Given the description of an element on the screen output the (x, y) to click on. 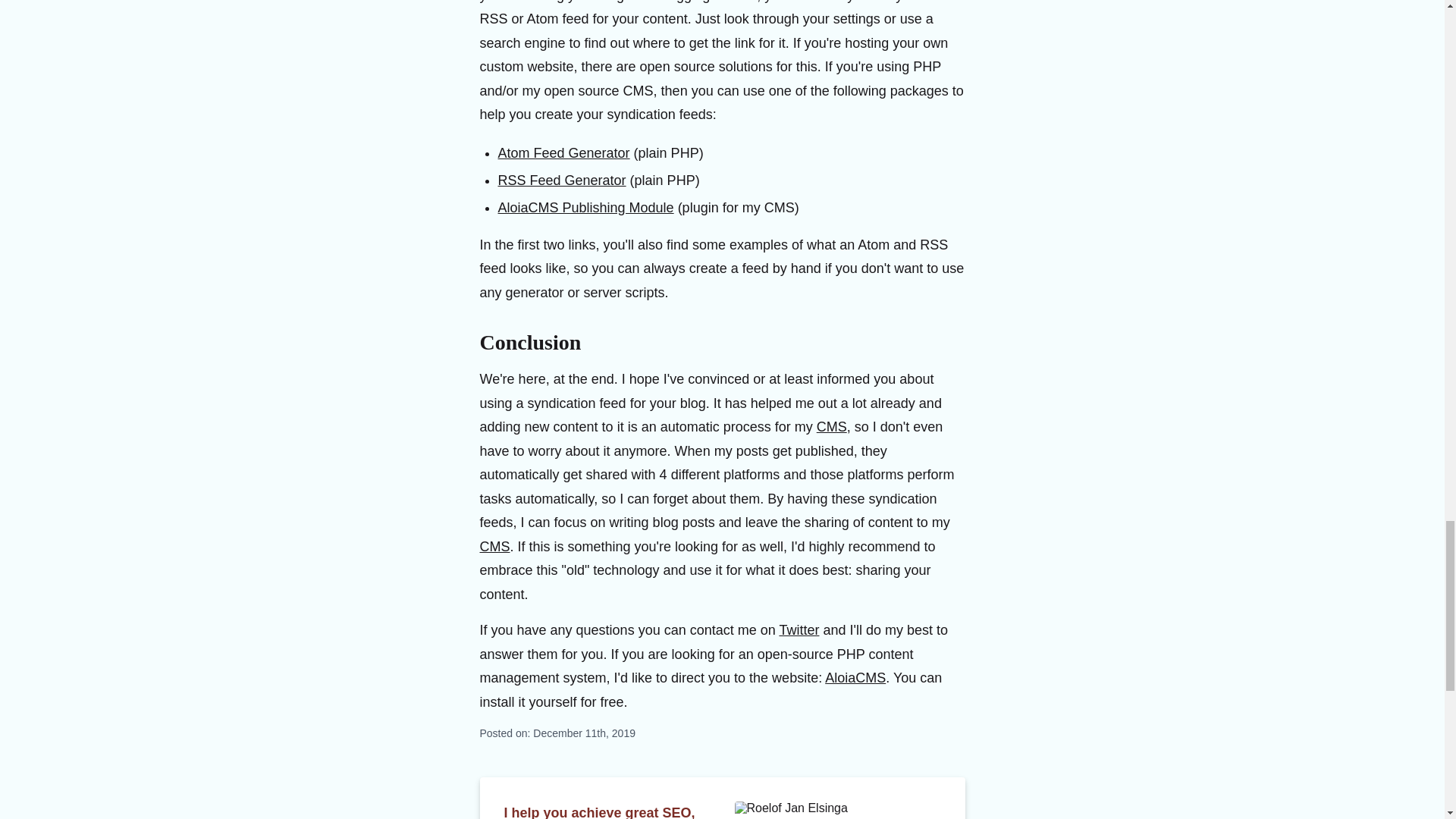
RSS Feed Generator (561, 180)
CMS (494, 546)
Atom Feed Generator (562, 152)
Roelof Jan Elsinga (836, 810)
AloiaCMS Publishing Module (584, 207)
AloiaCMS (855, 677)
CMS (831, 426)
Twitter (798, 630)
